Given the description of an element on the screen output the (x, y) to click on. 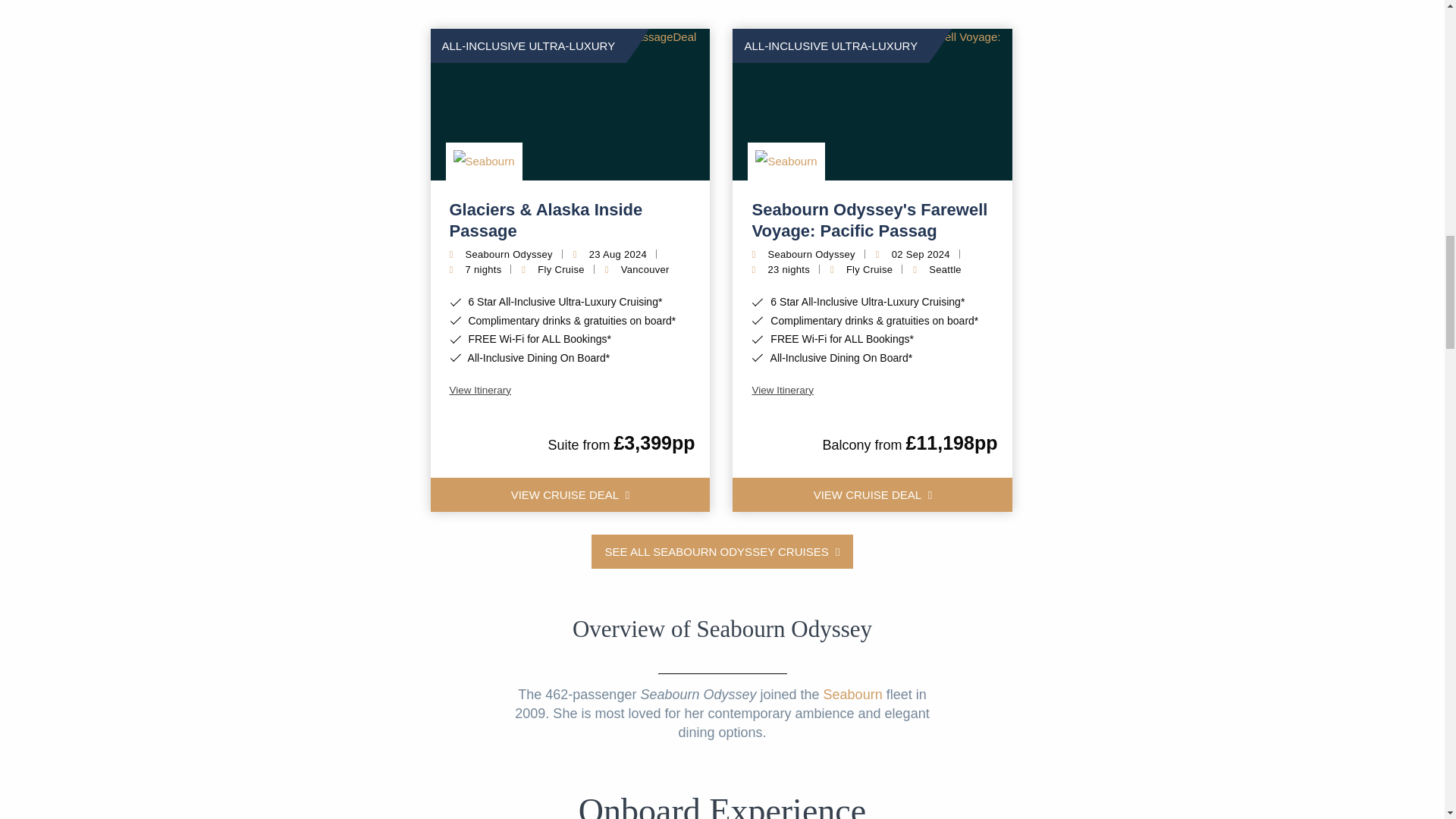
View Seabourn (786, 161)
View Seabourn (483, 161)
Seabourn Odyssey's Farewell Voyage: Pacific Passag (871, 220)
